Given the description of an element on the screen output the (x, y) to click on. 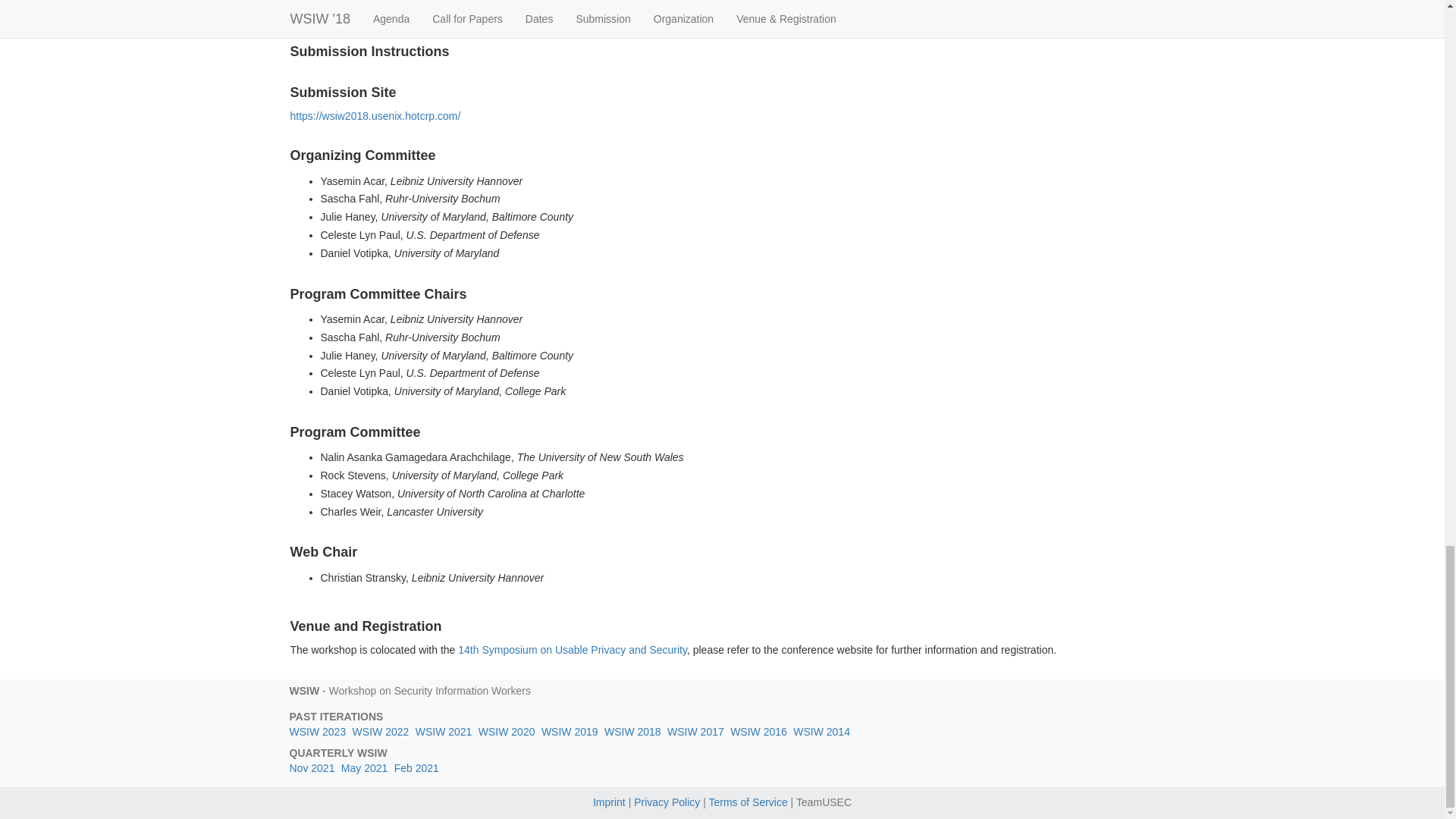
Nov 2021 (311, 767)
WSIW 2017 (694, 731)
May 2021 (363, 767)
WSIW 2018 (632, 731)
Terms of Service (747, 802)
14th Symposium on Usable Privacy and Security (572, 649)
WSIW 2019 (569, 731)
WSIW 2021 (442, 731)
WSIW 2023 (317, 731)
Feb 2021 (416, 767)
Privacy Policy (666, 802)
Imprint (609, 802)
WSIW 2020 (507, 731)
WSIW 2016 (758, 731)
WSIW 2014 (821, 731)
